Given the description of an element on the screen output the (x, y) to click on. 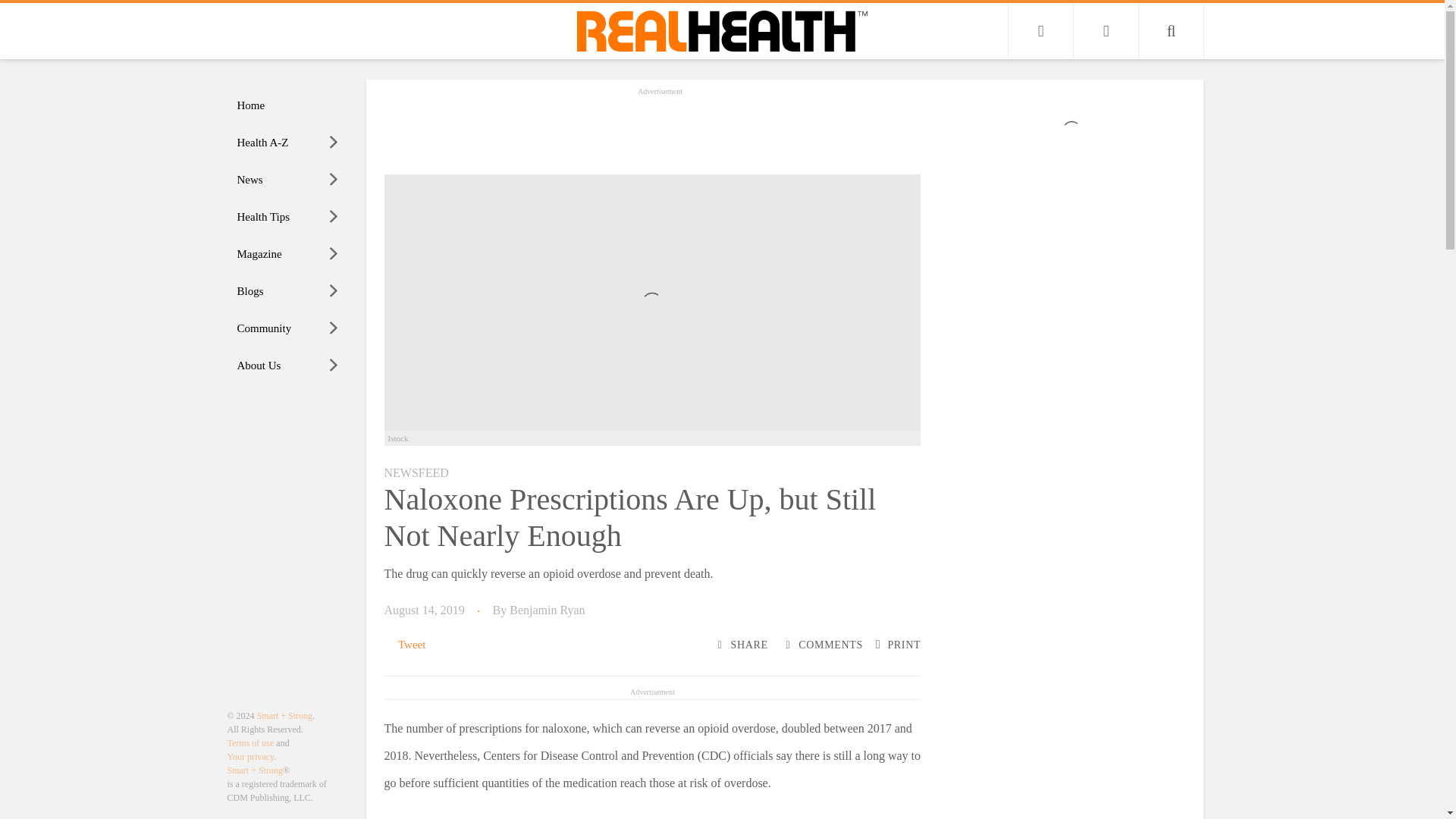
Health A-Z (288, 142)
Home (288, 105)
News (288, 180)
Health Tips (288, 217)
